Given the description of an element on the screen output the (x, y) to click on. 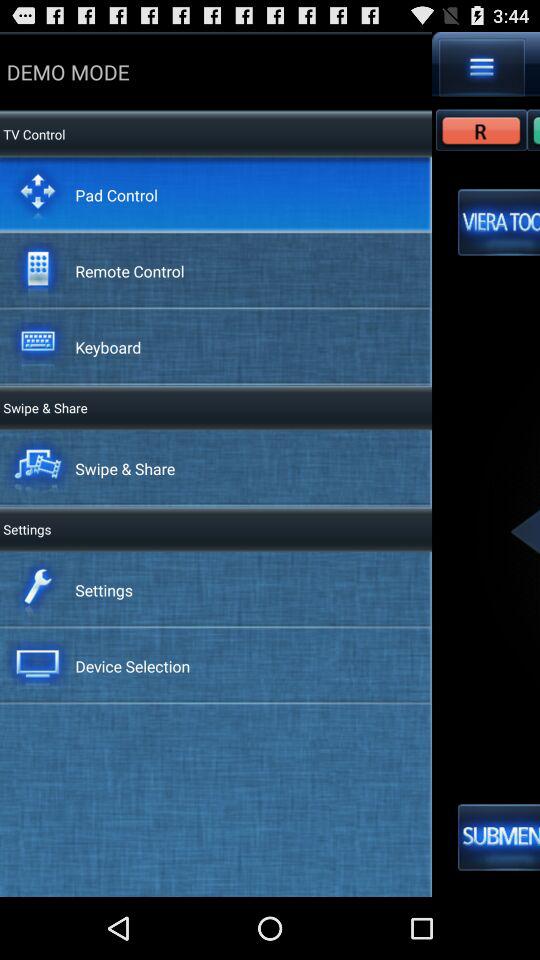
press the keyboard (108, 346)
